Given the description of an element on the screen output the (x, y) to click on. 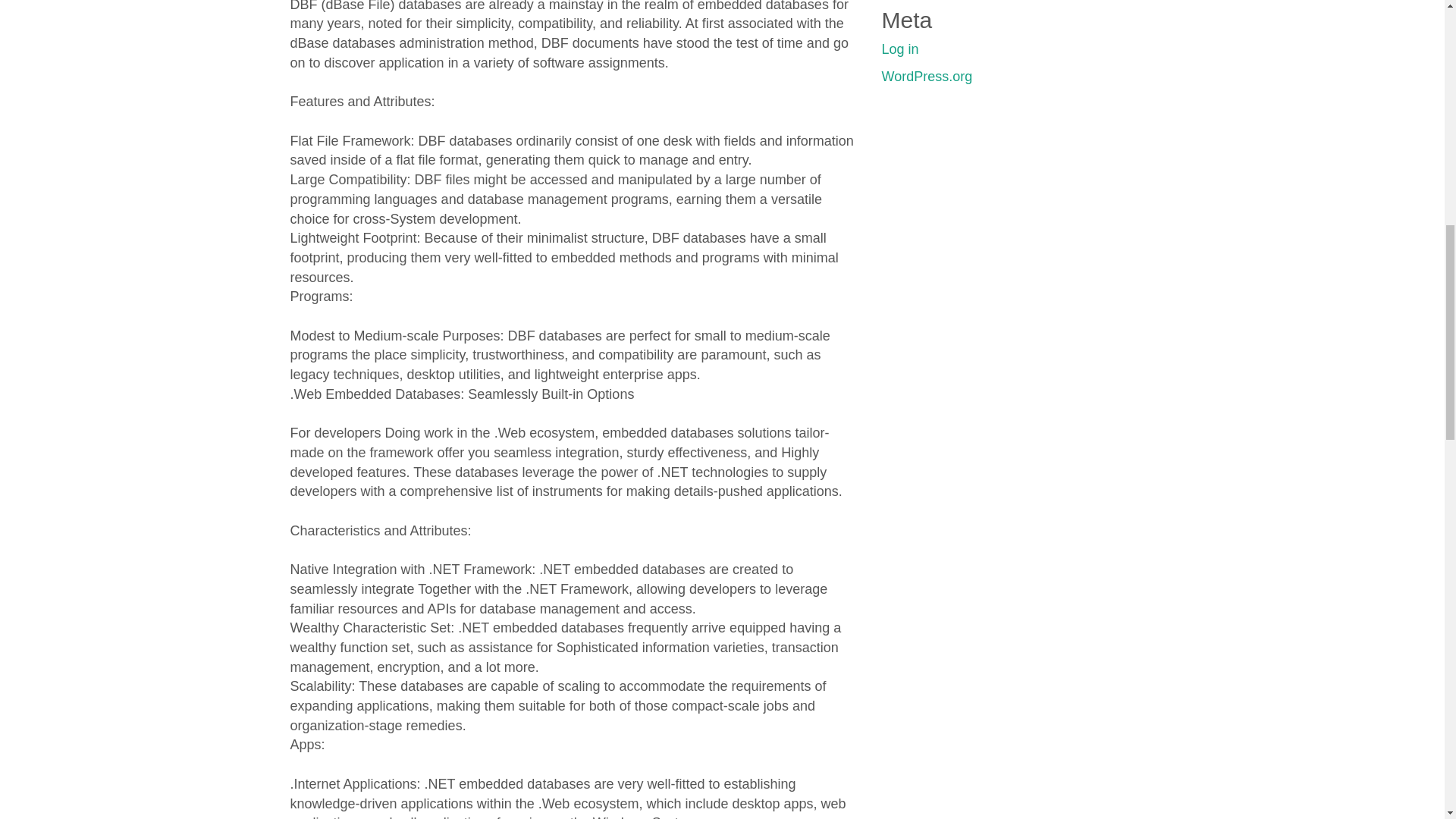
Log in (899, 48)
WordPress.org (926, 76)
